Given the description of an element on the screen output the (x, y) to click on. 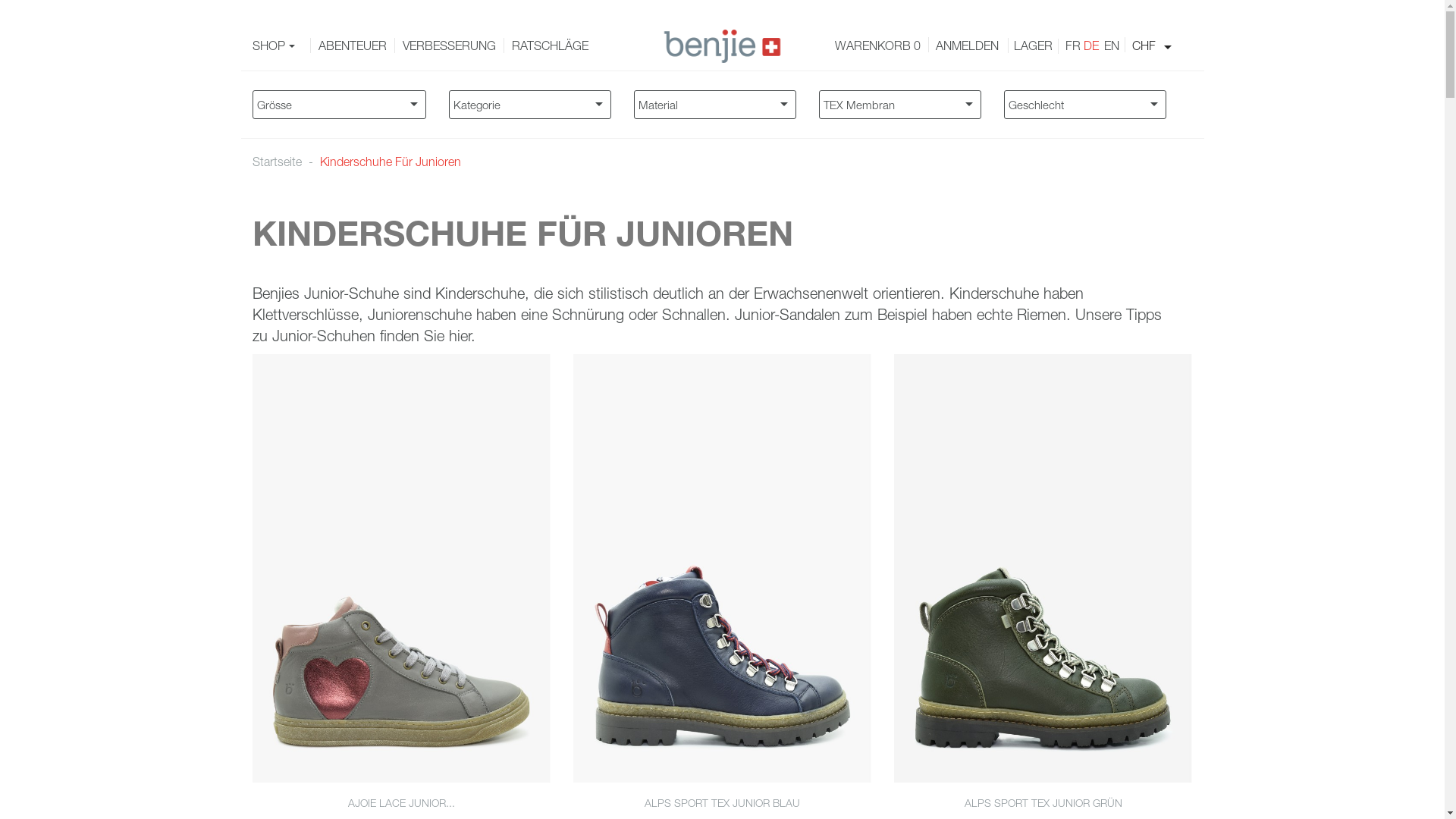
SHOP Element type: text (276, 45)
Startseite Element type: text (277, 161)
DE Element type: text (1090, 45)
LAGER Element type: text (1032, 45)
AJOIE LACE JUNIOR... Element type: text (401, 802)
VERBESSERUNG Element type: text (448, 45)
Junior-Schuhen Element type: text (322, 335)
EN Element type: text (1109, 45)
ABENTEUER Element type: text (352, 45)
ALPS SPORT TEX JUNIOR BLAU Element type: text (722, 802)
ANMELDEN Element type: text (966, 45)
FR Element type: text (1072, 45)
